Given the description of an element on the screen output the (x, y) to click on. 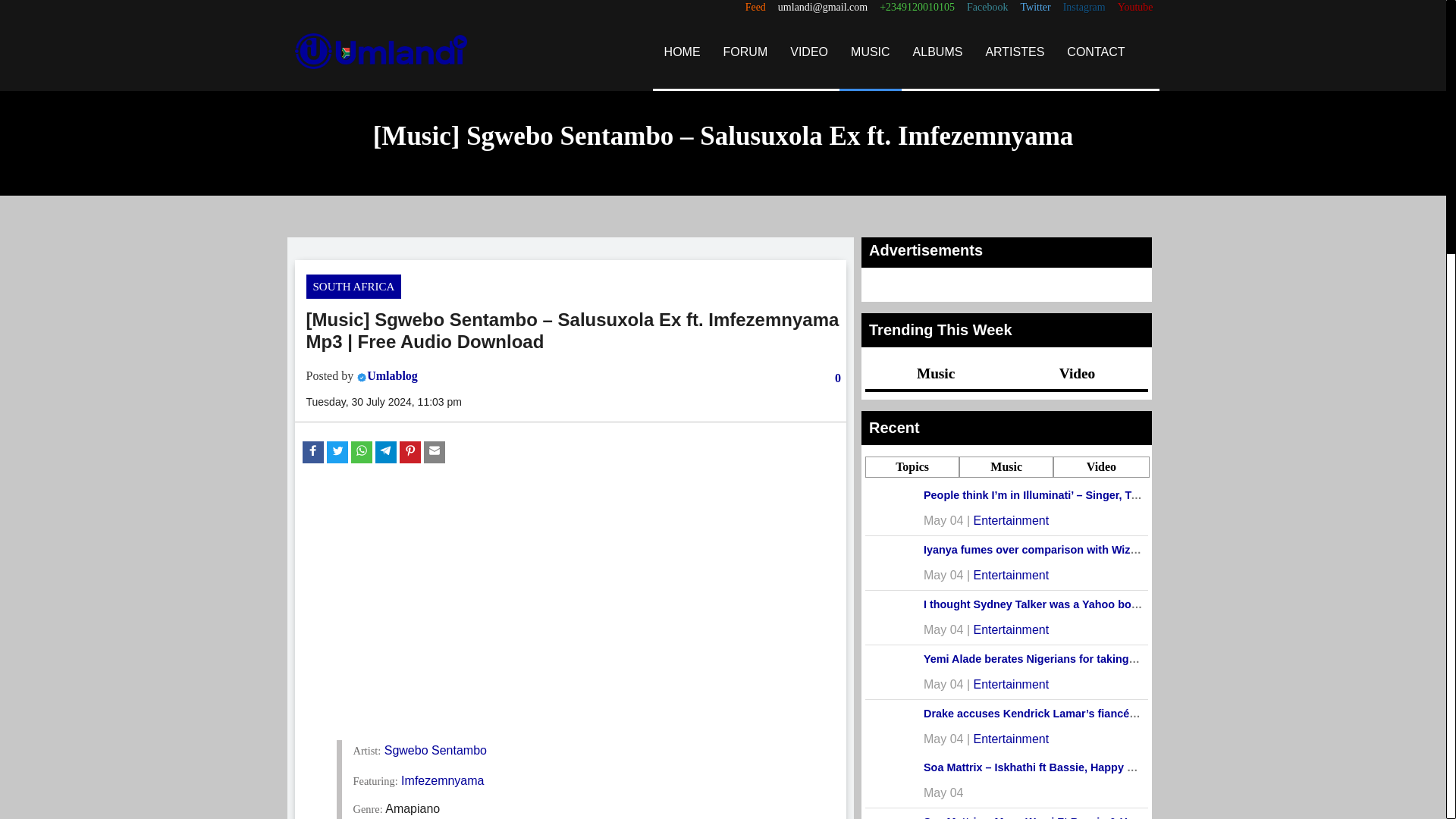
Facebook (986, 7)
Iyanya fumes over comparison with Wizkid (1034, 549)
Sgwebo Sentambo (435, 749)
Entertainment (1011, 629)
Entertainment (1011, 684)
ALBUMS (937, 51)
SOUTH AFRICA (353, 286)
CONTACT (1095, 51)
Entertainment (1011, 738)
Entertainment (1011, 574)
Youtube (1135, 7)
Imfezemnyama (442, 780)
Instagram (1083, 7)
Twitter (1034, 7)
ARTISTES (1014, 51)
